Given the description of an element on the screen output the (x, y) to click on. 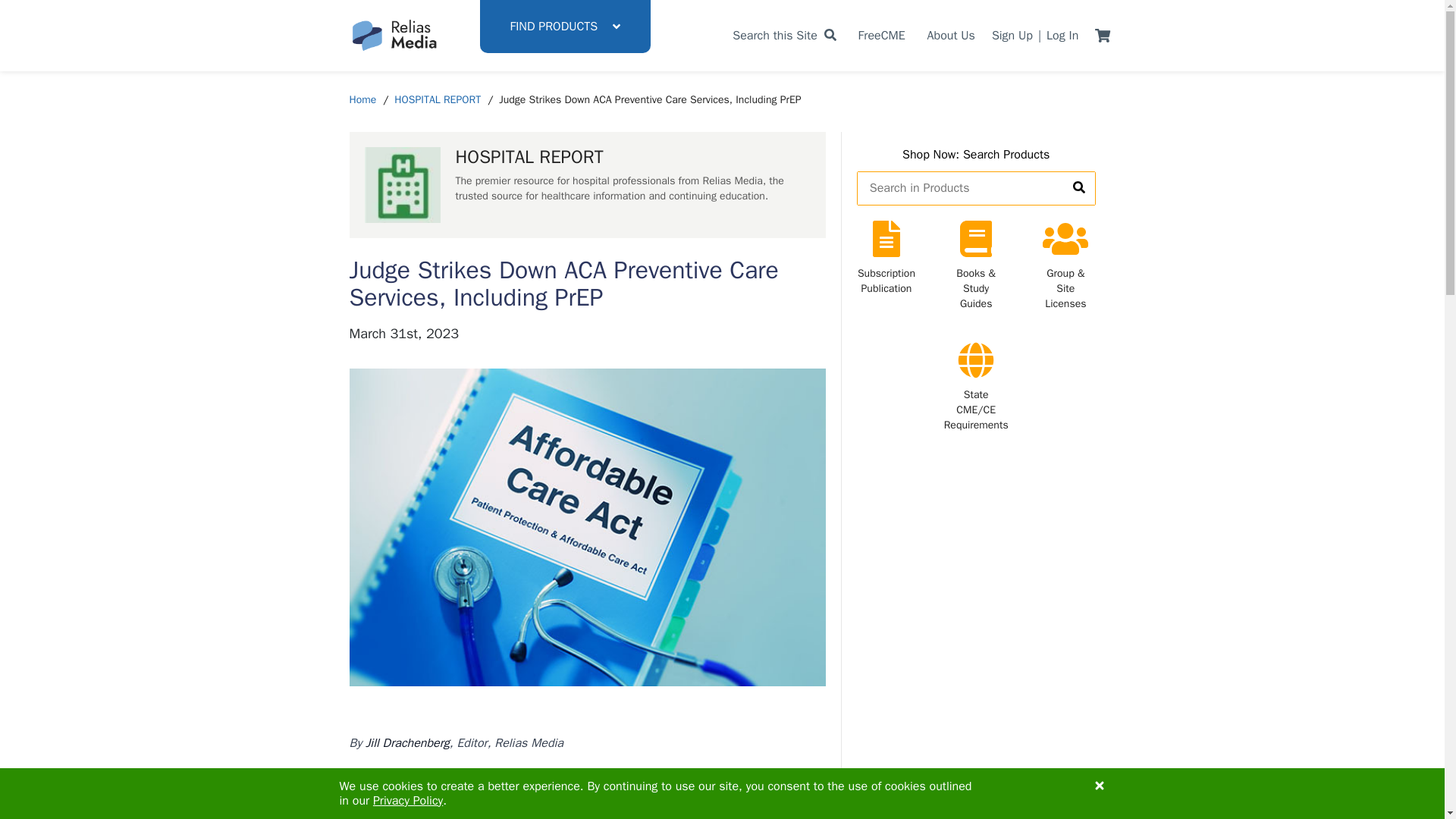
FreeCME (882, 35)
Sign Up (1011, 35)
Search this Site (783, 35)
Log In (1062, 35)
invalidated provisions (536, 779)
FIND PRODUCTS (564, 26)
HOSPITAL REPORT (437, 99)
About Us (951, 35)
Home (362, 99)
